Given the description of an element on the screen output the (x, y) to click on. 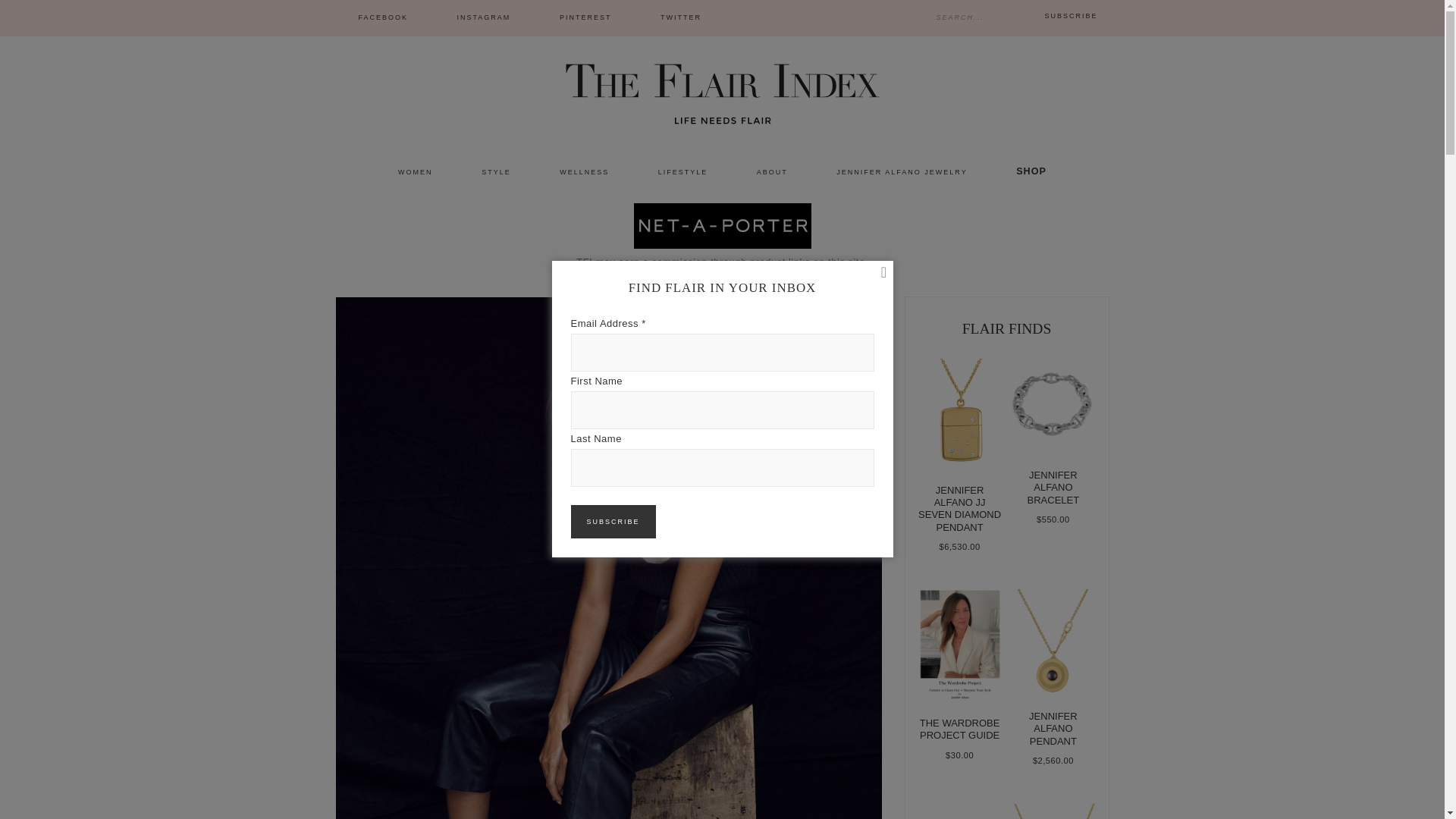
WELLNESS (584, 172)
STYLE (496, 172)
THE FLAIR INDEX (722, 90)
LIFESTYLE (682, 172)
PINTEREST (585, 18)
WOMEN (415, 172)
SHOP (1030, 171)
ABOUT (771, 172)
